Given the description of an element on the screen output the (x, y) to click on. 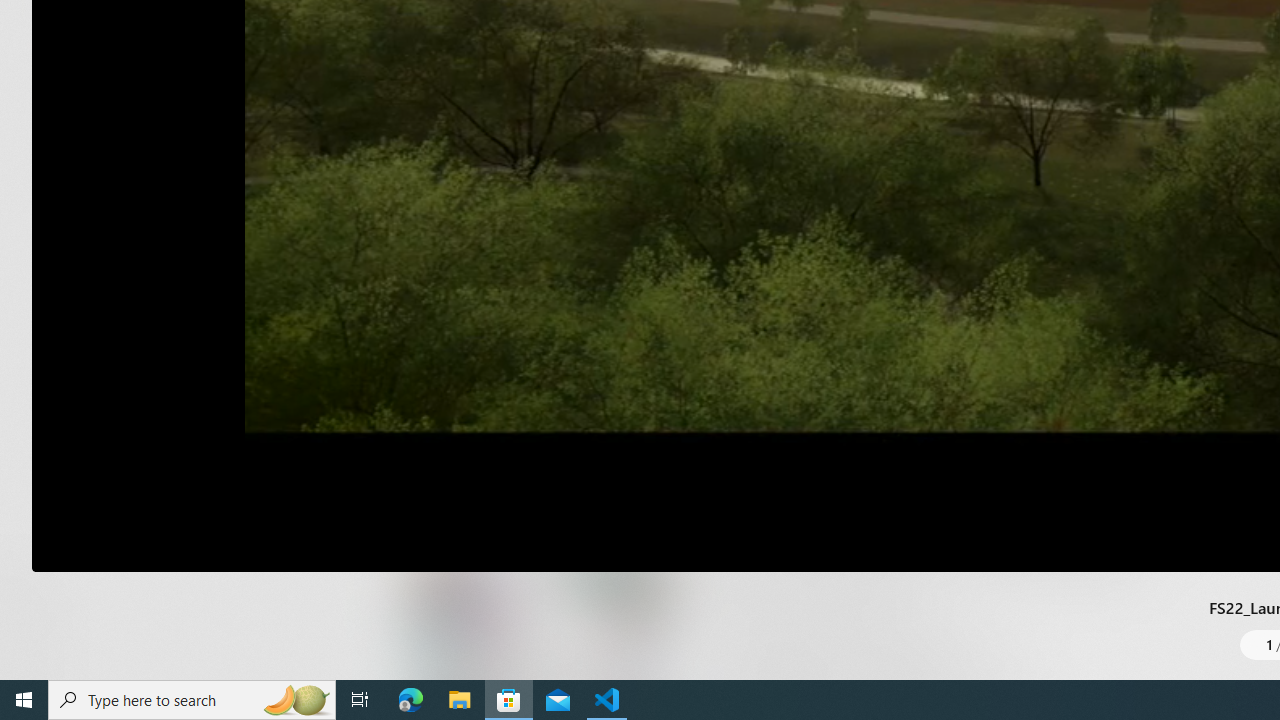
Buy (1000, 421)
2022 (667, 177)
GIANTS Software GmbH (753, 177)
Age rating: EVERYONE. Click for more information. (945, 226)
Play Trailer (505, 293)
4.3 stars. Click to skip to ratings and reviews (689, 232)
Play with Game Pass (767, 421)
Farming Simulator 22 PC, Edition selector (791, 352)
